Given the description of an element on the screen output the (x, y) to click on. 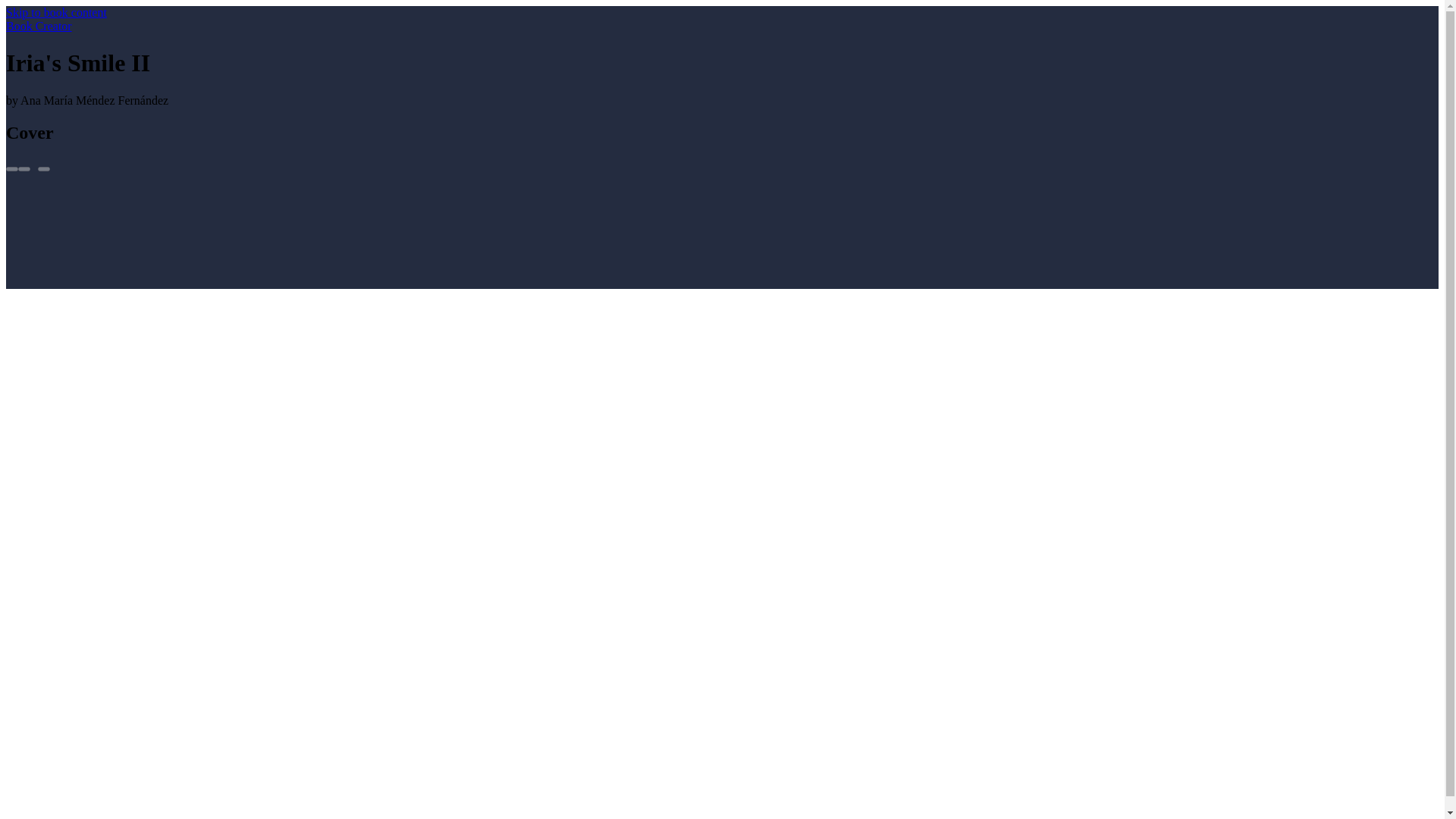
Settings (23, 169)
Skip to book content (55, 11)
Book Creator (38, 25)
Pages (11, 169)
Menu (43, 169)
Skip to book content (55, 11)
Go to Book Creator website (38, 25)
